Given the description of an element on the screen output the (x, y) to click on. 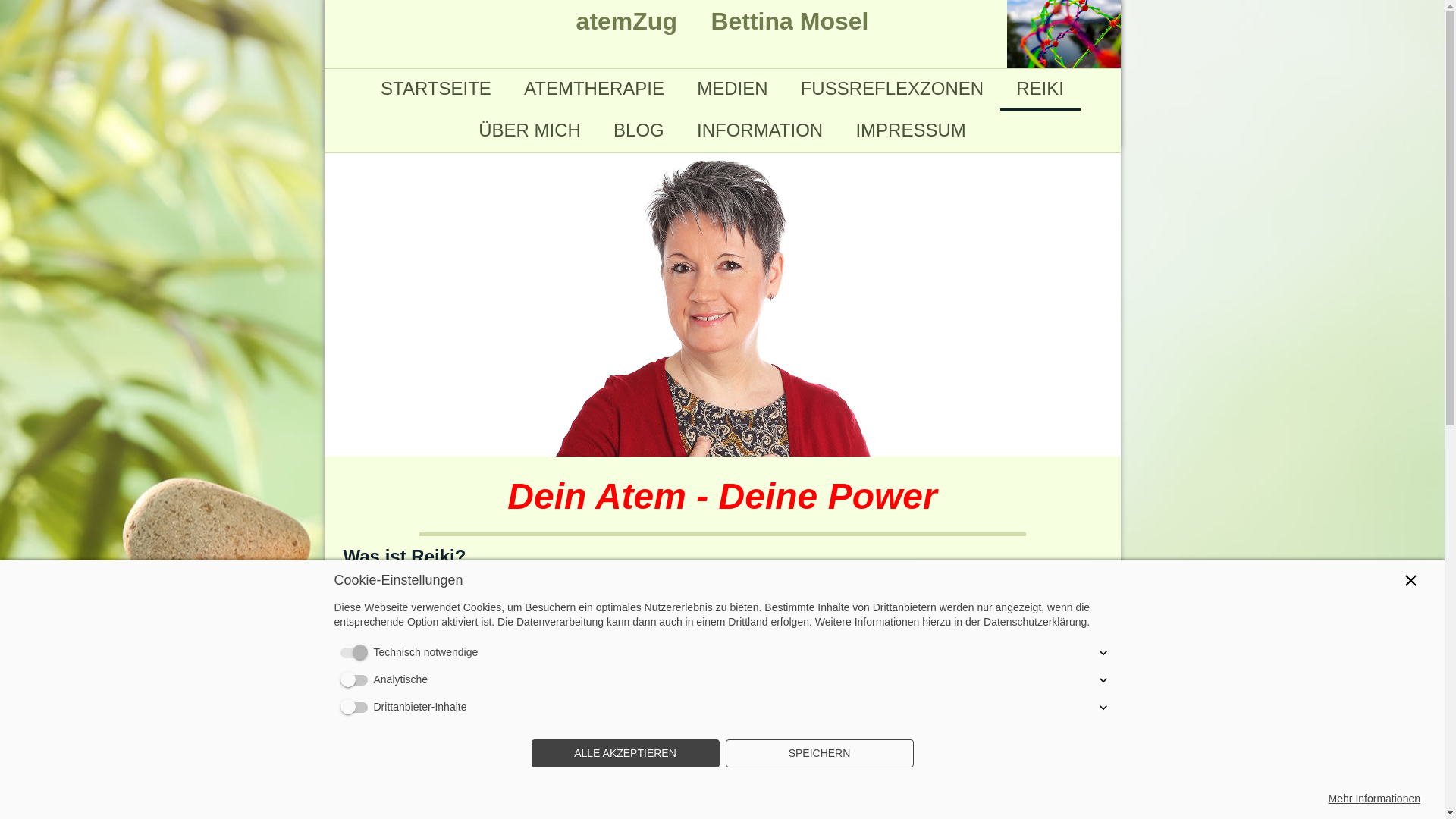
SPEICHERN Element type: text (818, 753)
IMPRESSUM Element type: text (910, 130)
ALLE AKZEPTIEREN Element type: text (624, 753)
FUSSREFLEXZONEN Element type: text (892, 88)
REIKI Element type: text (1040, 88)
ATEMTHERAPIE Element type: text (593, 88)
  Element type: text (1063, 7)
MEDIEN Element type: text (732, 88)
BLOG Element type: text (638, 130)
INFORMATION Element type: text (759, 130)
STARTSEITE Element type: text (435, 88)
Mehr Informationen Element type: text (1374, 798)
